Given the description of an element on the screen output the (x, y) to click on. 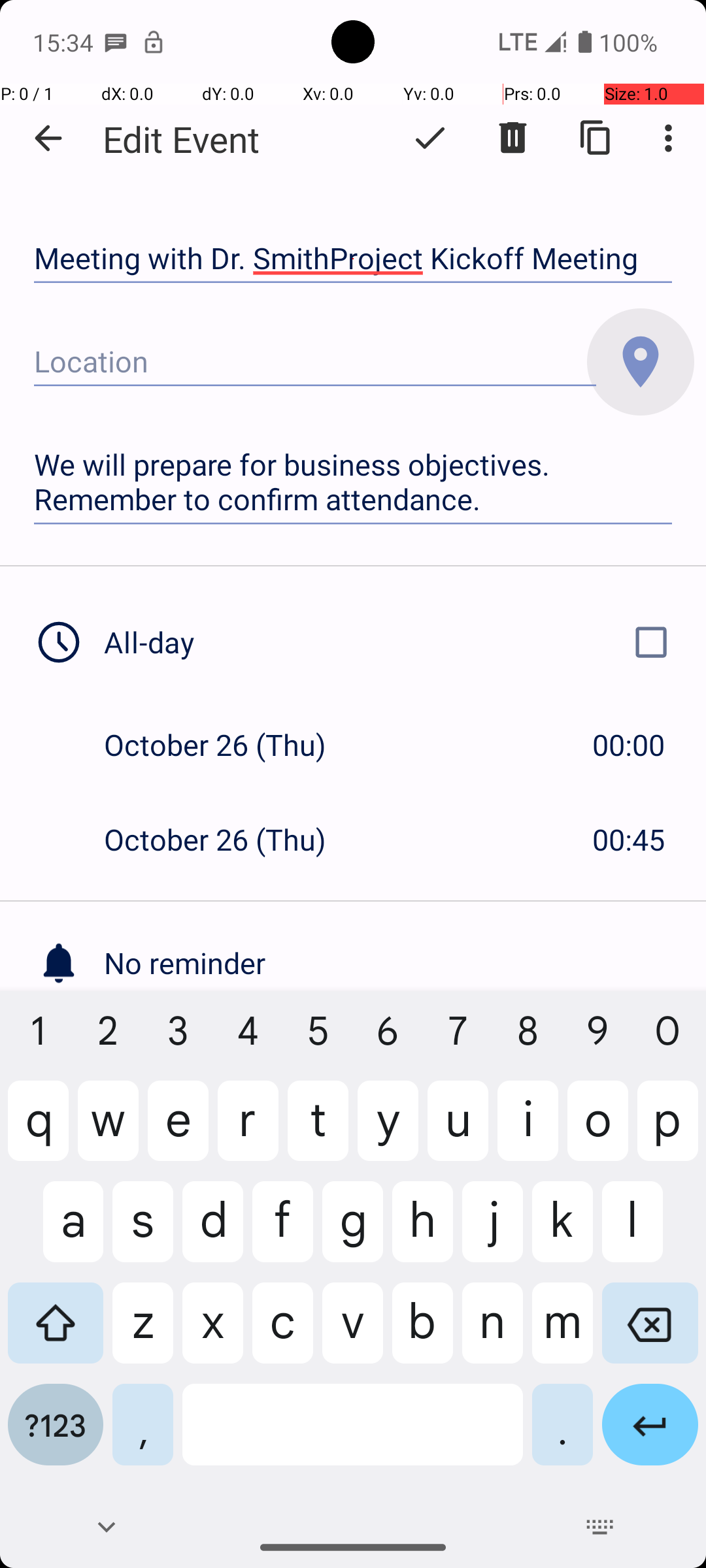
Meeting with Dr. SmithProject Kickoff Meeting Element type: android.widget.EditText (352, 258)
We will prepare for business objectives. Remember to confirm attendance. Element type: android.widget.EditText (352, 482)
October 26 (Thu) Element type: android.widget.TextView (228, 744)
00:00 Element type: android.widget.TextView (628, 744)
00:45 Element type: android.widget.TextView (628, 838)
